Given the description of an element on the screen output the (x, y) to click on. 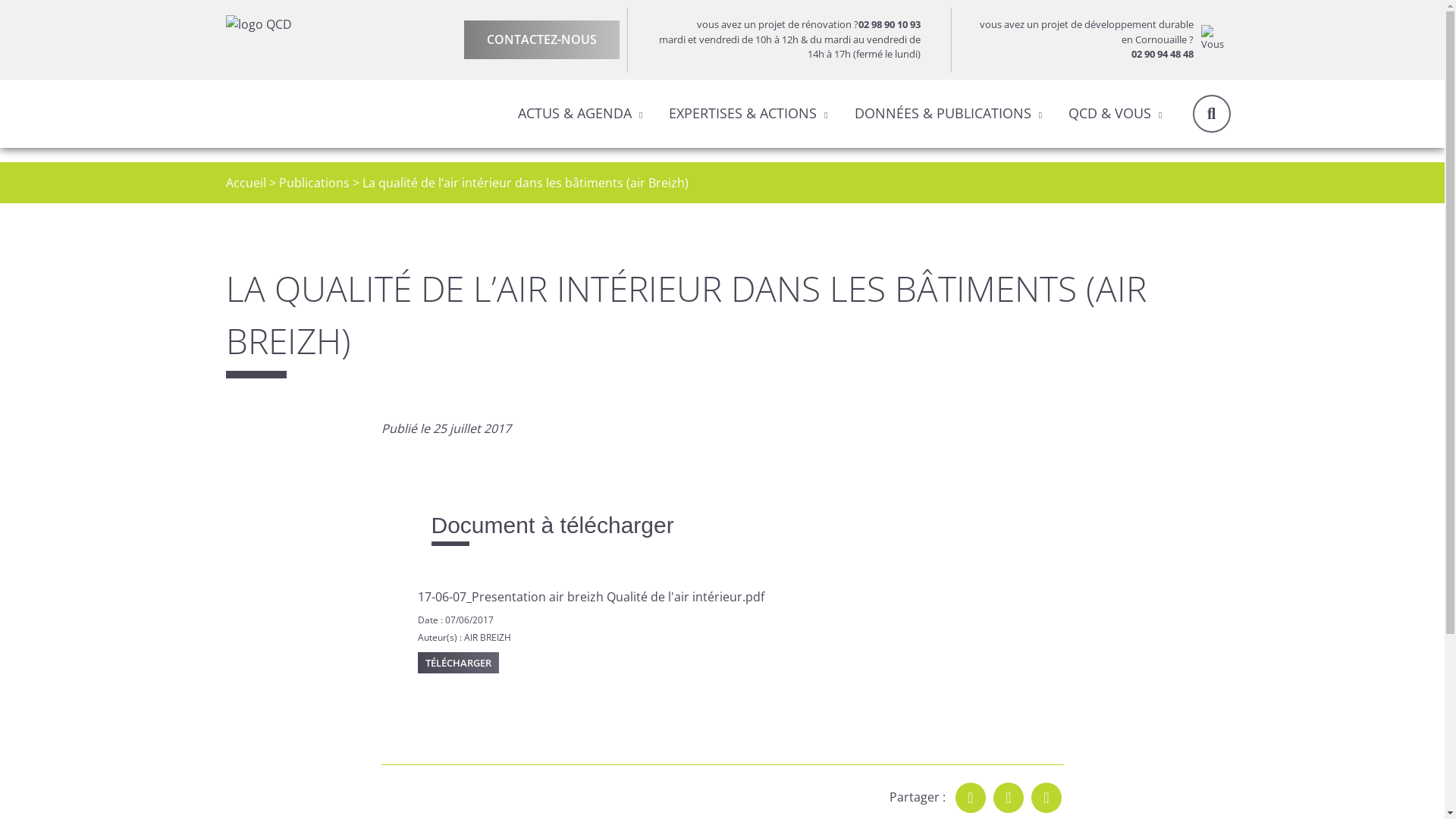
AGENDA Element type: text (894, 161)
PUBLICATIONS DE QCD Element type: text (375, 161)
QCD & VOUS Element type: text (1109, 112)
Accueil Element type: text (245, 182)
CONTACTEZ-NOUS Element type: text (541, 39)
INSTANCES Element type: text (864, 161)
LEADER Element type: text (454, 161)
Twitter Element type: hover (1008, 797)
Facebook Element type: hover (970, 797)
EXPERTISES & ACTIONS Element type: text (742, 112)
Recherche Element type: text (1211, 112)
EQUIPE Element type: text (518, 161)
ACTUS & AGENDA Element type: text (574, 112)
Linkedin Element type: hover (1046, 797)
LE DLAL FEAMPA Element type: text (482, 161)
OBSERVATION Element type: text (461, 161)
ACTIONS POUR LE COMPTE DES PARTENAIRES Element type: text (894, 171)
Publications Element type: text (314, 182)
